Given the description of an element on the screen output the (x, y) to click on. 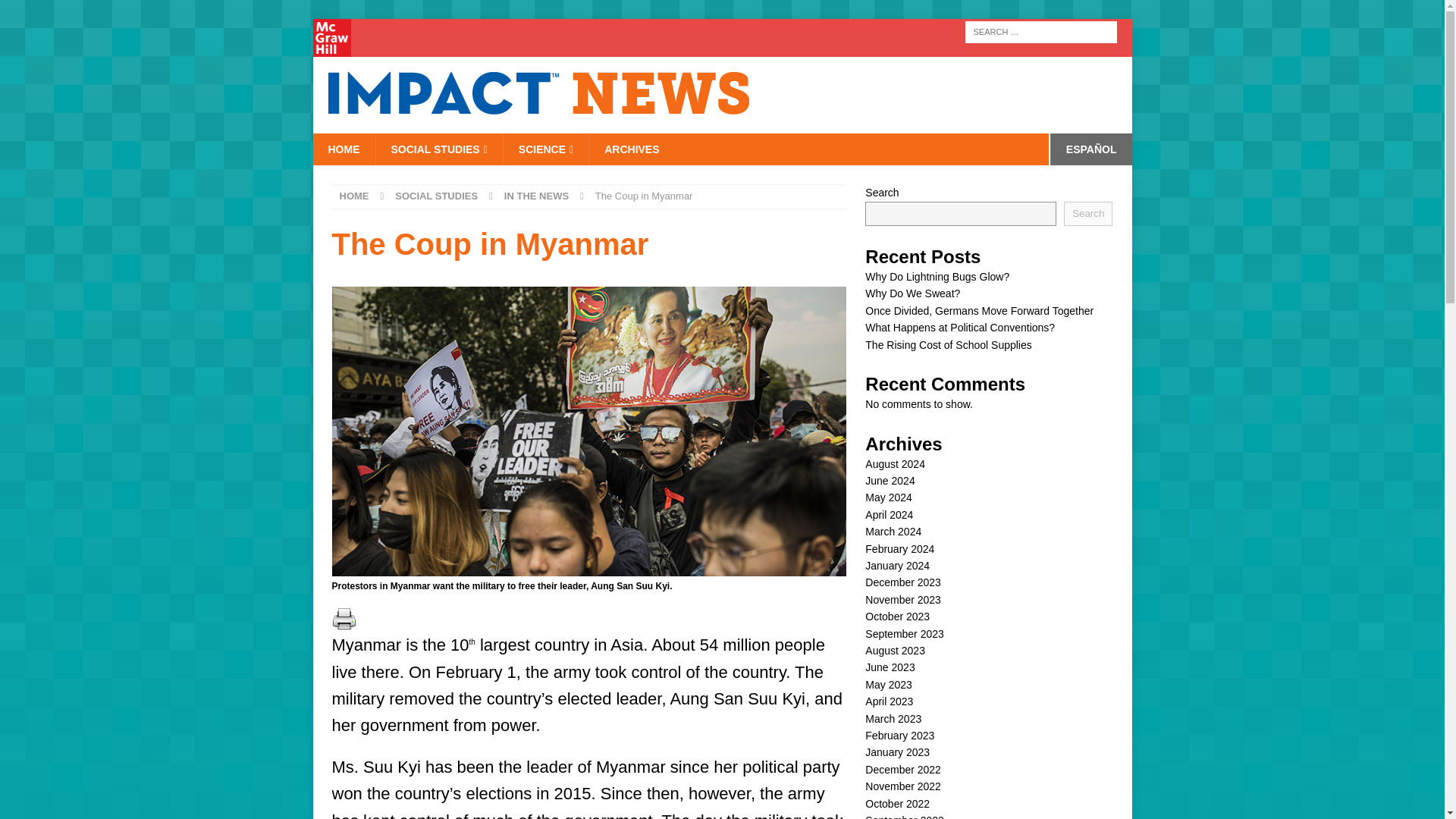
IN THE NEWS (536, 195)
SOCIAL STUDIES (438, 149)
Search (56, 11)
SOCIAL STUDIES (435, 195)
ARCHIVES (631, 149)
SCIENCE (545, 149)
HOME (354, 195)
HOME (343, 149)
